Given the description of an element on the screen output the (x, y) to click on. 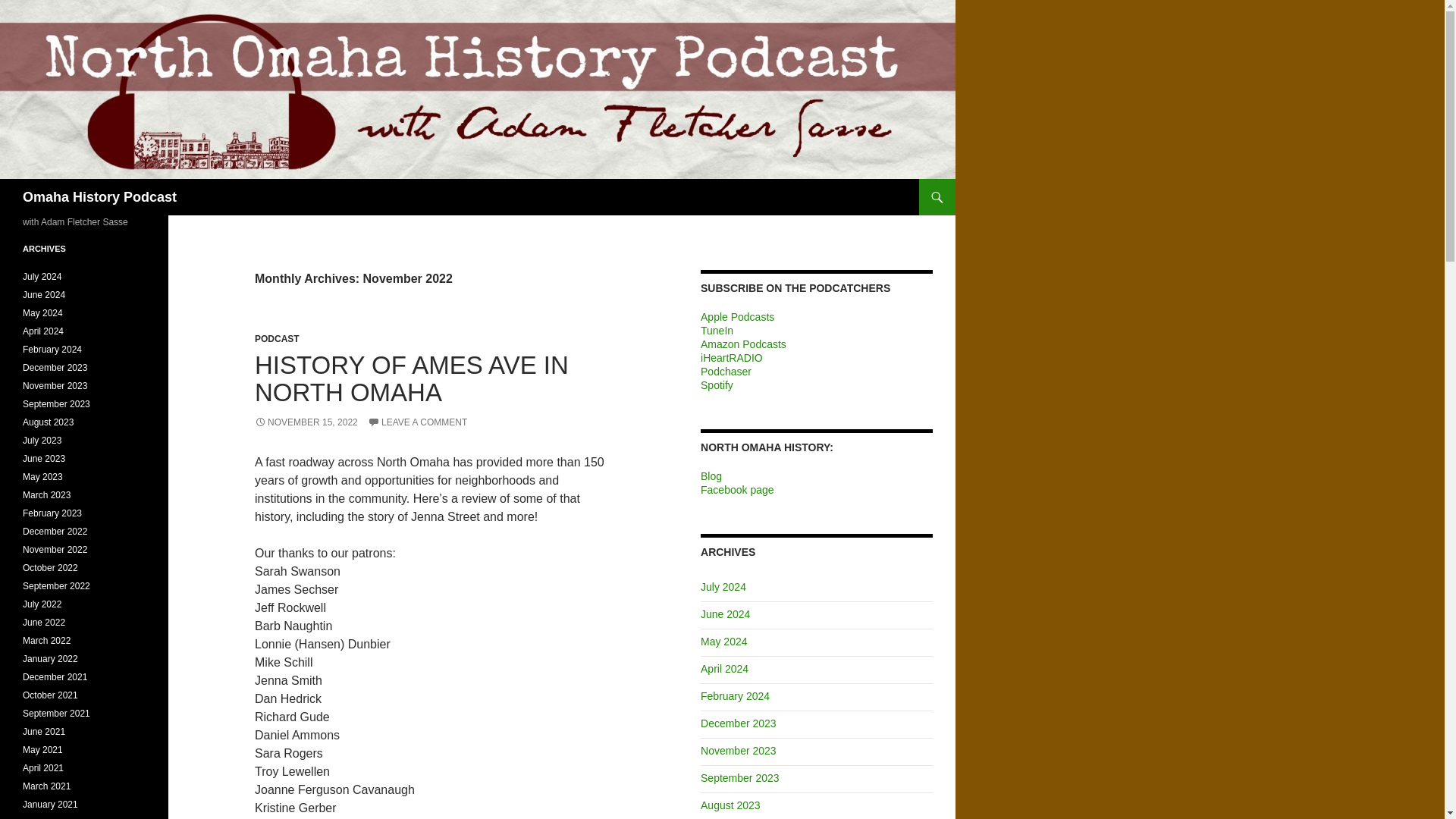
LEAVE A COMMENT (417, 421)
August 2023 (730, 805)
Spotify (716, 385)
July 2024 (722, 586)
December 2023 (738, 723)
June 2024 (724, 613)
September 2023 (739, 777)
Amazon Podcasts (743, 344)
PODCAST (276, 338)
NOVEMBER 15, 2022 (306, 421)
